Given the description of an element on the screen output the (x, y) to click on. 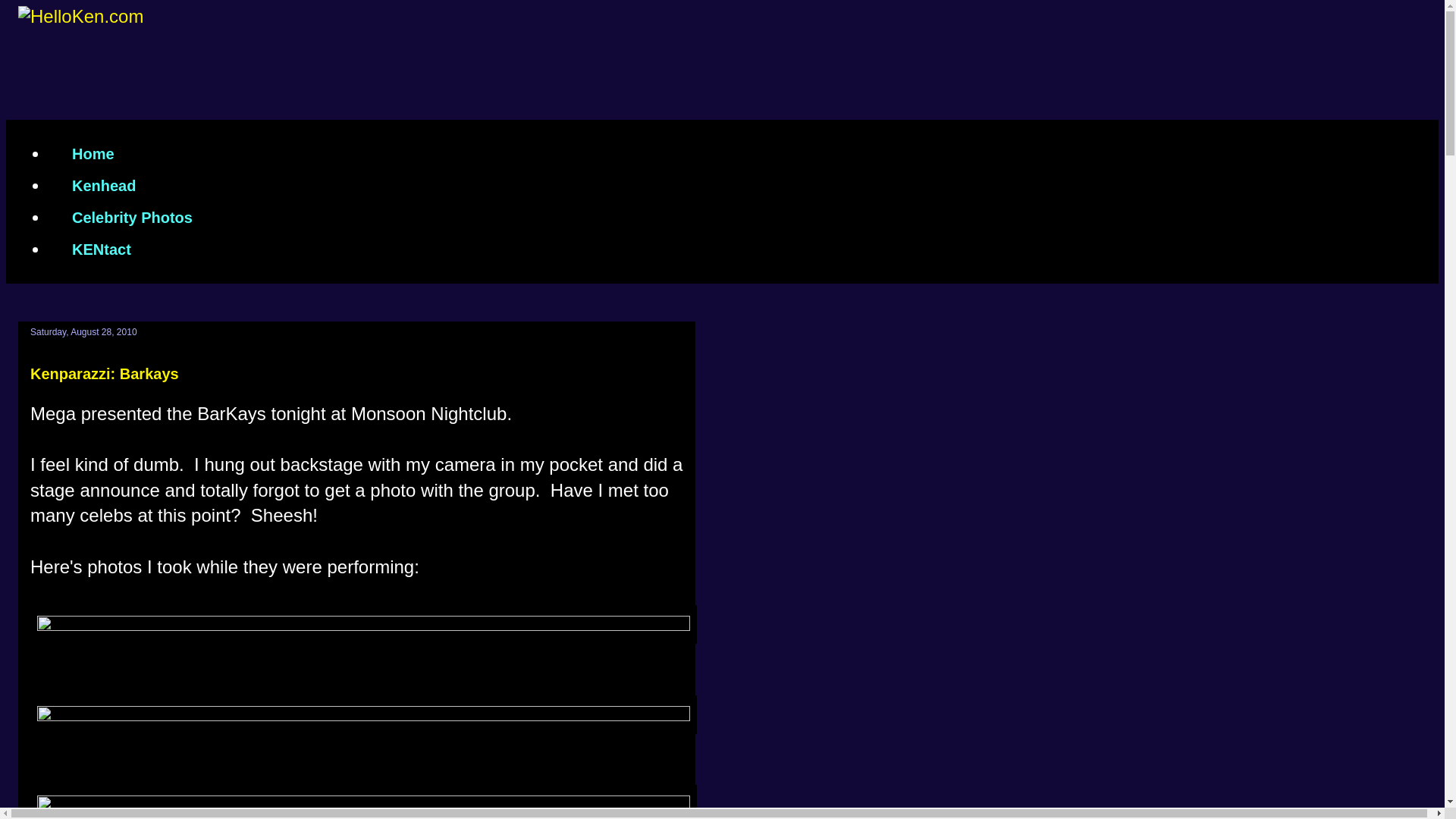
KENtact (101, 249)
Kenhead (103, 185)
Home (92, 153)
Celebrity Photos (131, 217)
